Given the description of an element on the screen output the (x, y) to click on. 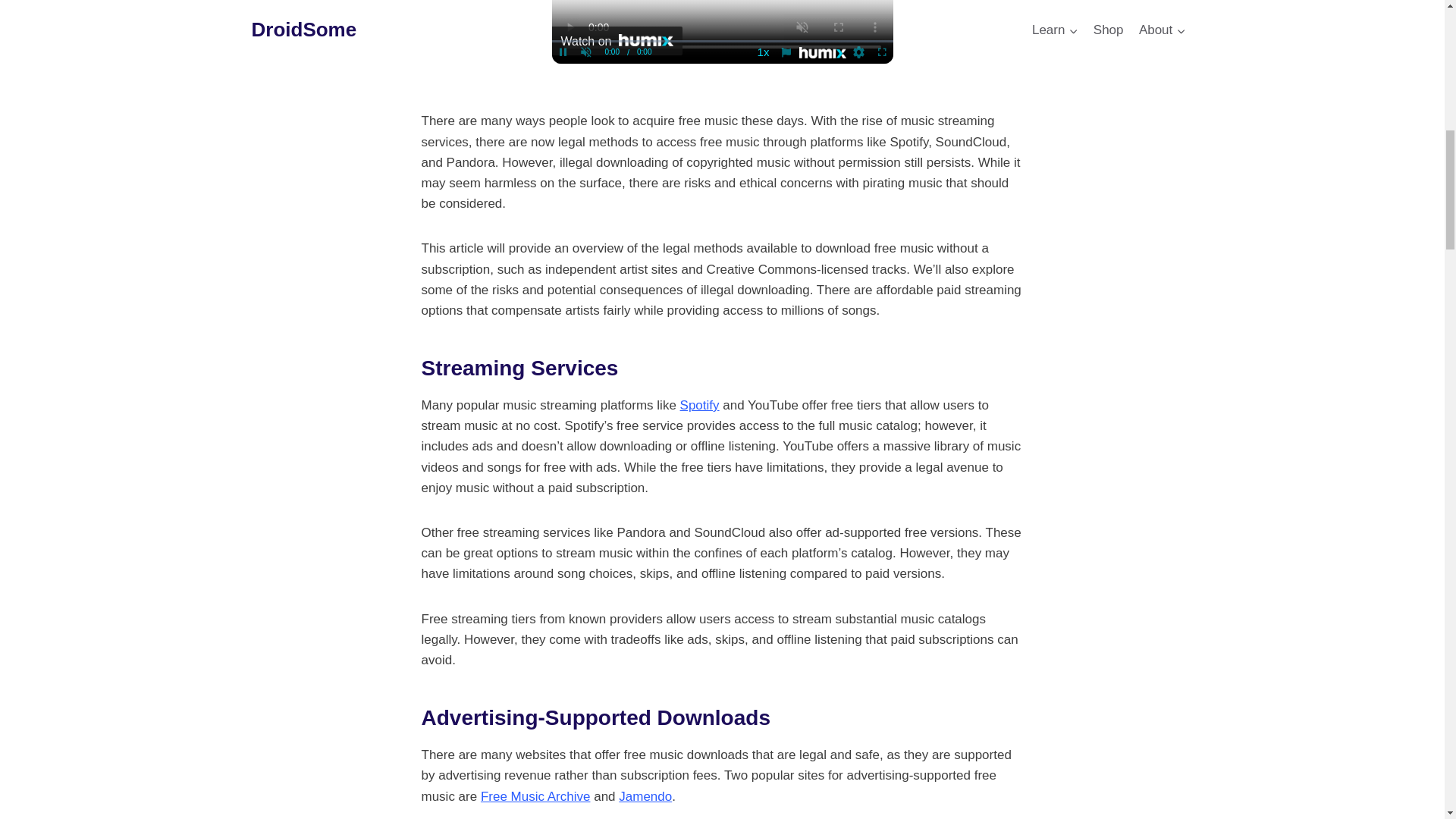
Playback Rate (763, 51)
Pause (563, 51)
Free Music Archive (535, 796)
Playback Rate (763, 51)
Report video (785, 51)
Spotify (699, 405)
Unmute (585, 51)
Fullscreen (881, 51)
Loading (858, 51)
Watch on (616, 40)
Unmute (585, 51)
Fullscreen (881, 51)
Loading (858, 51)
Pause (563, 51)
